Given the description of an element on the screen output the (x, y) to click on. 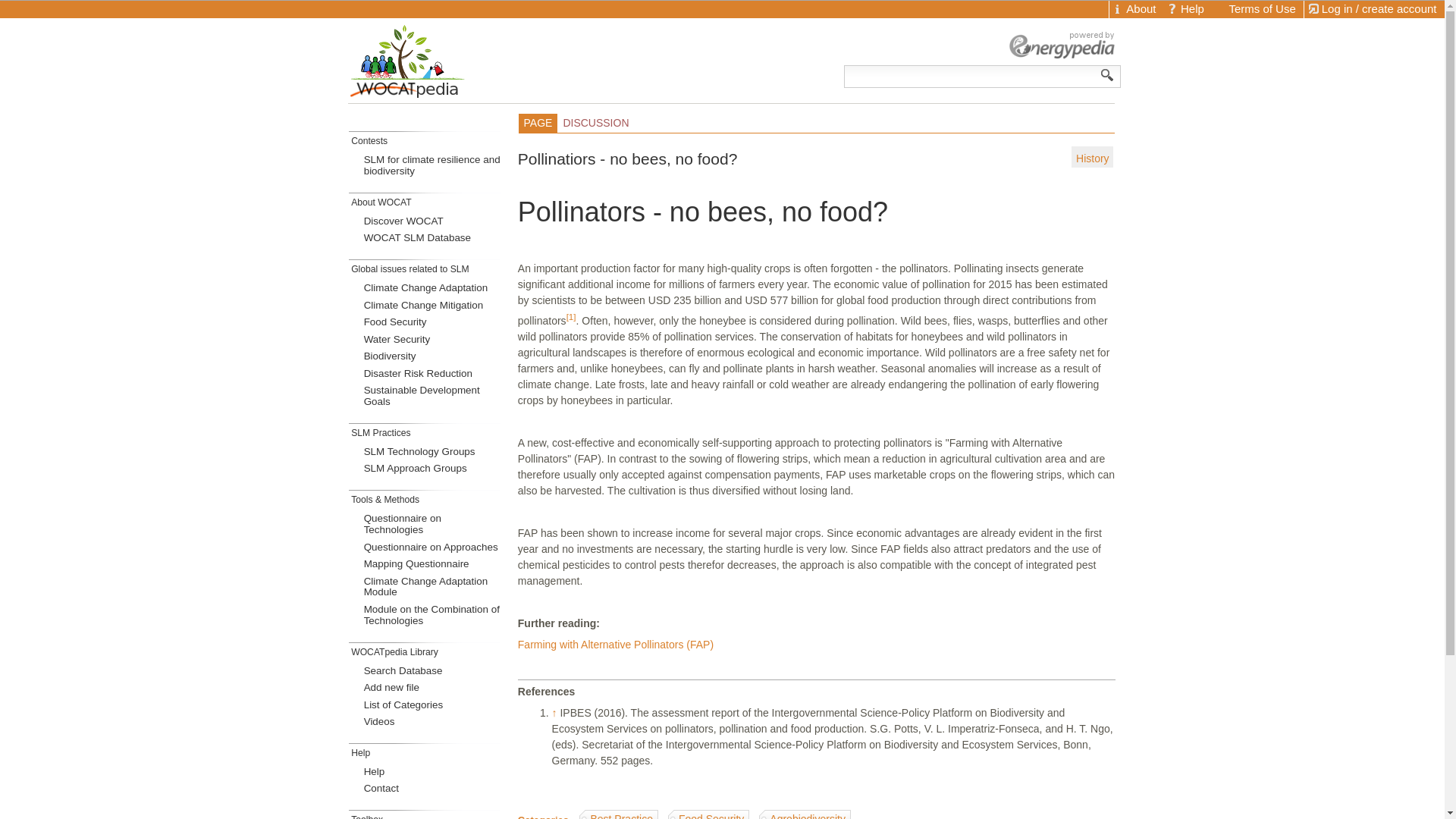
SLM Approach Groups (433, 469)
Search Database (433, 670)
SLM Technology Groups (433, 452)
Climate Change Adaptation (433, 288)
About (1136, 9)
Search the pages for this text (1107, 74)
Contact (433, 789)
Videos (433, 722)
Food Security (433, 322)
Questionnaire on Technologies (433, 524)
